Given the description of an element on the screen output the (x, y) to click on. 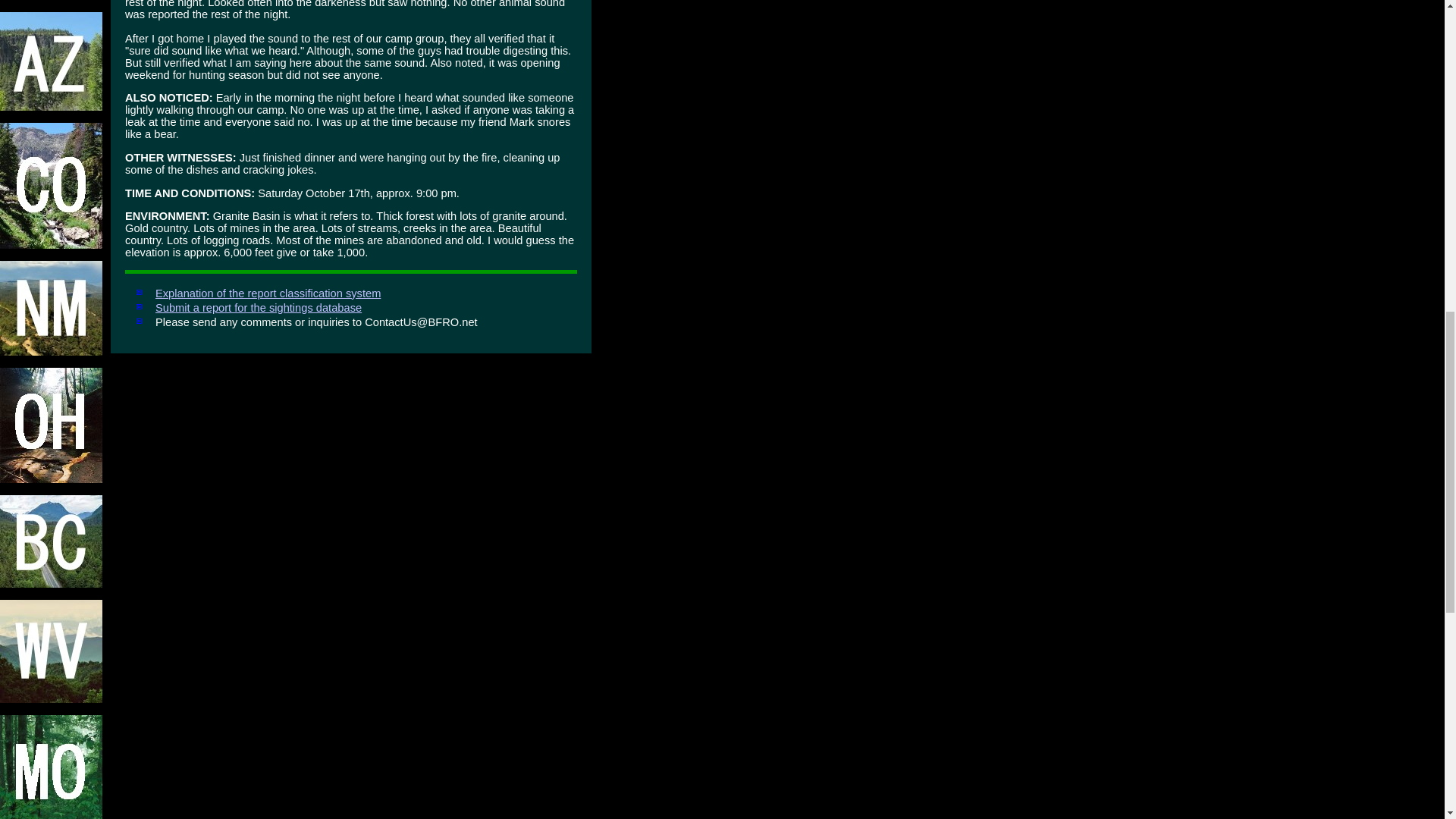
Submit a report for the sightings database (258, 307)
Explanation of the report classification system (267, 292)
